Given the description of an element on the screen output the (x, y) to click on. 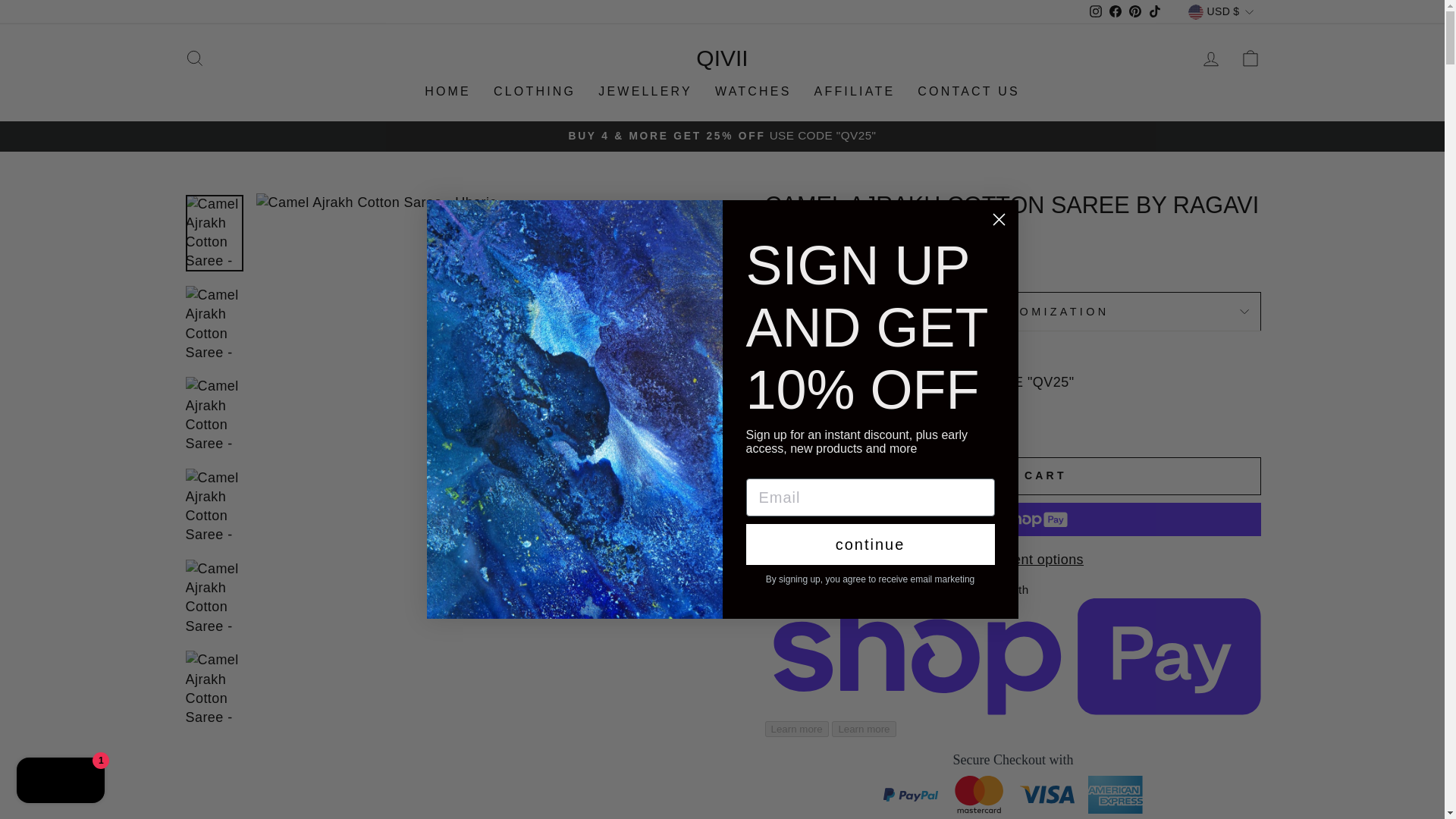
trust-badges-widget (1012, 783)
